Given the description of an element on the screen output the (x, y) to click on. 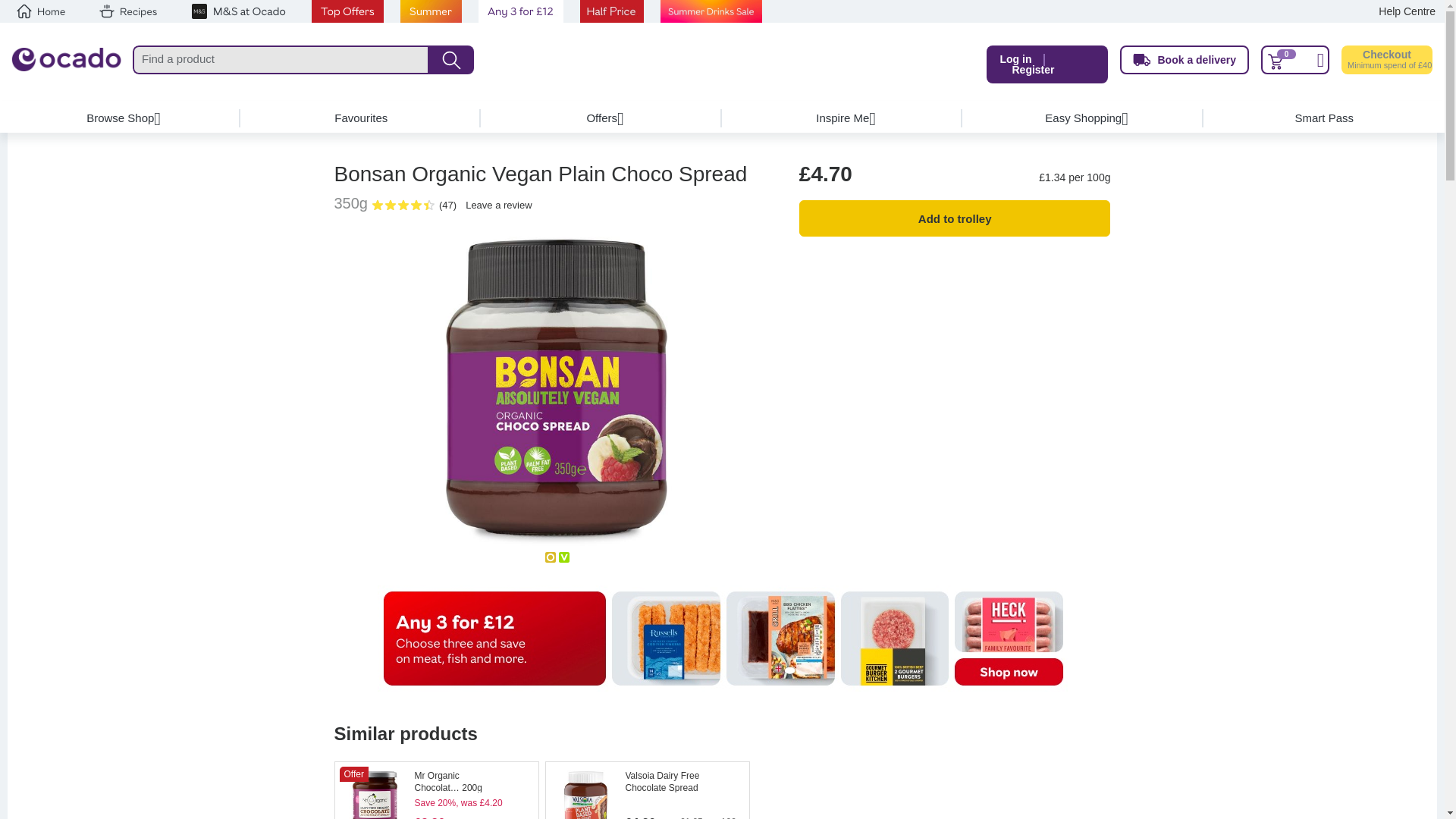
0 (1294, 59)
Offers (601, 118)
Top Offers (347, 11)
Half Price (611, 11)
Find a product (280, 59)
Log in (1014, 59)
Summer Drinks Sale (711, 11)
Organic (550, 557)
Register (1032, 69)
Summer (430, 11)
Favourites (361, 118)
Inspire Me (842, 118)
Home (41, 11)
Easy Shopping (1083, 118)
Reviews 4.4 of 5 (399, 205)
